Given the description of an element on the screen output the (x, y) to click on. 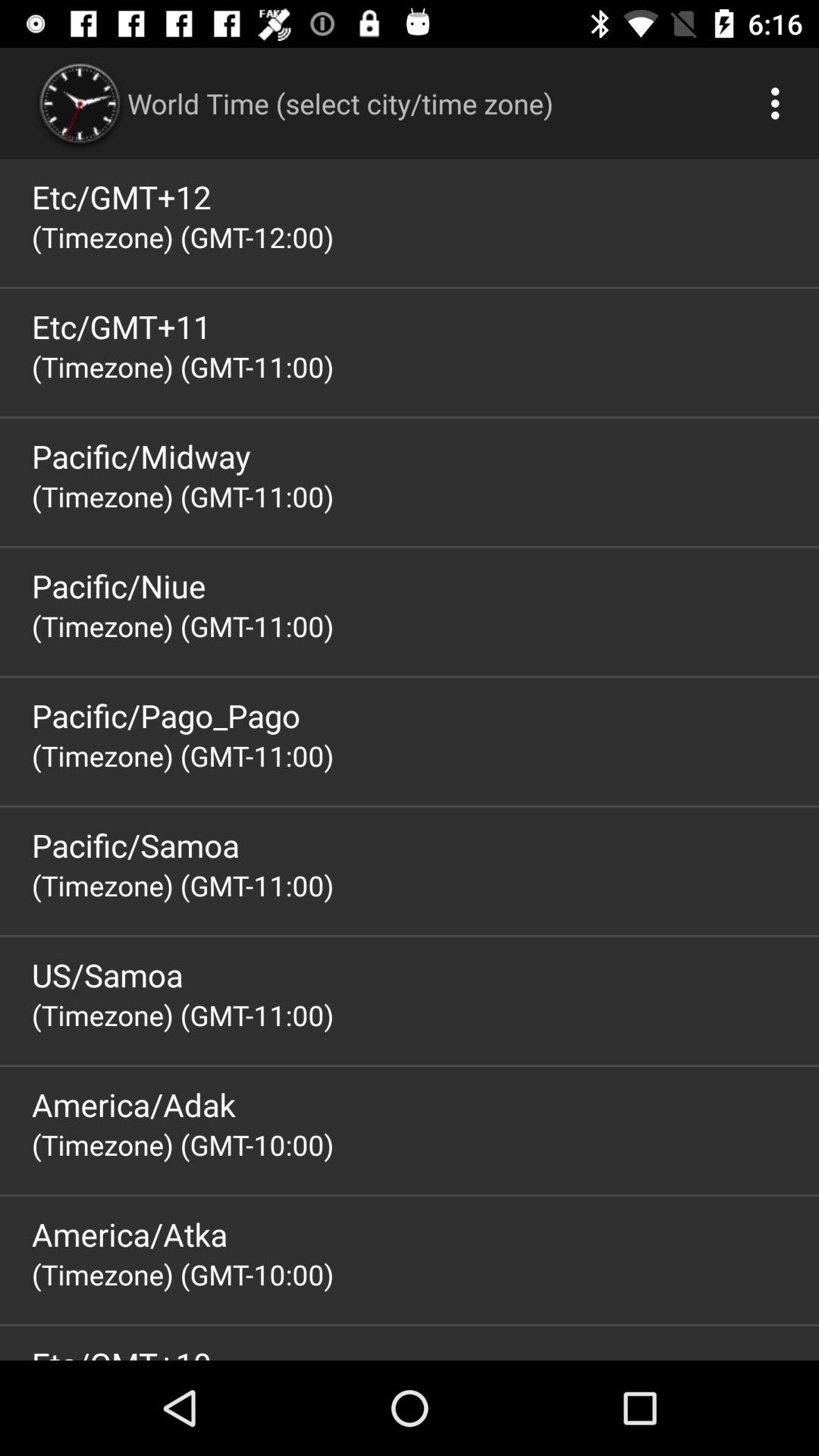
tap icon next to world time select app (779, 103)
